Given the description of an element on the screen output the (x, y) to click on. 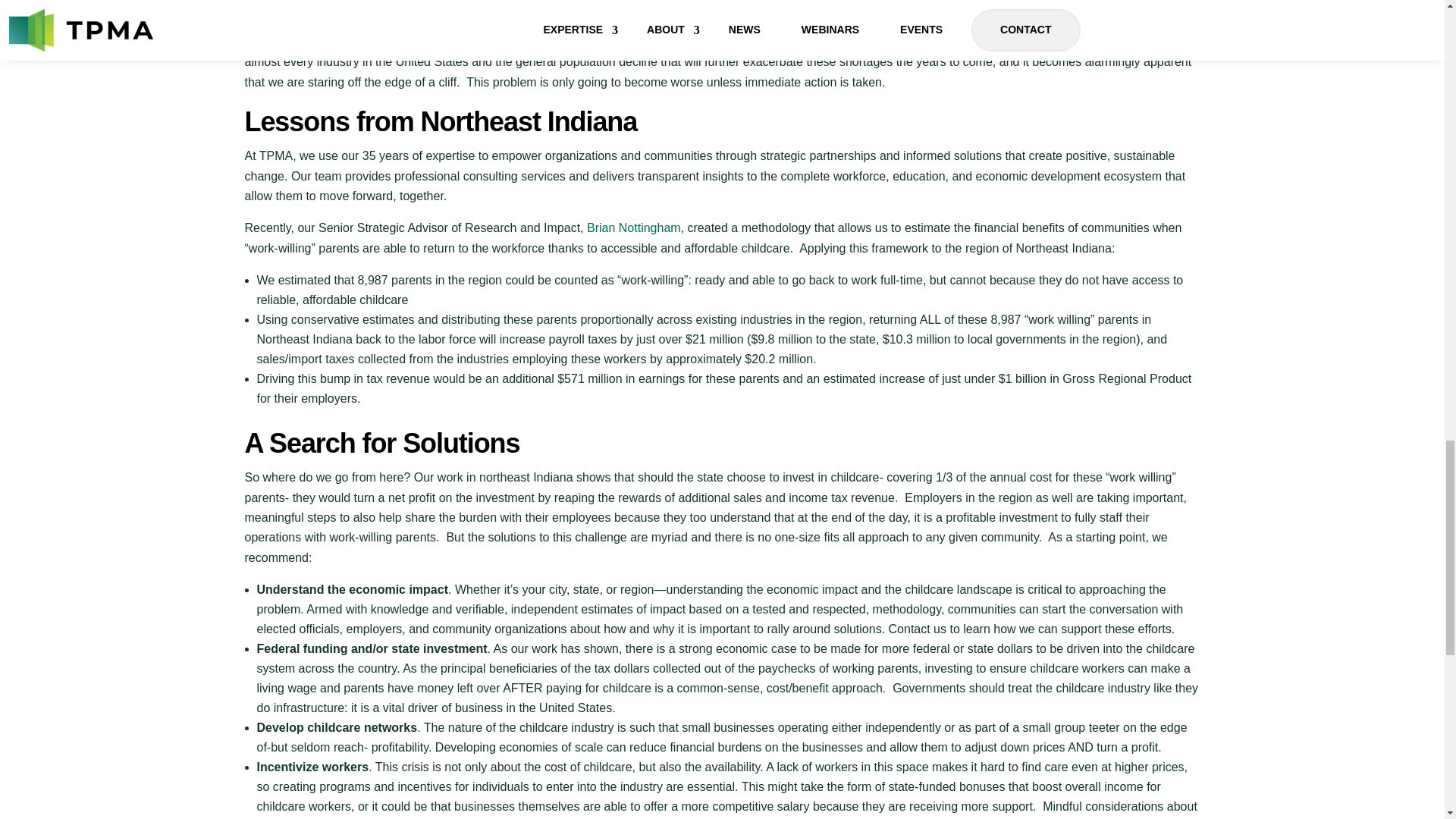
Studies have shown (298, 21)
Brian Nottingham (633, 227)
